Given the description of an element on the screen output the (x, y) to click on. 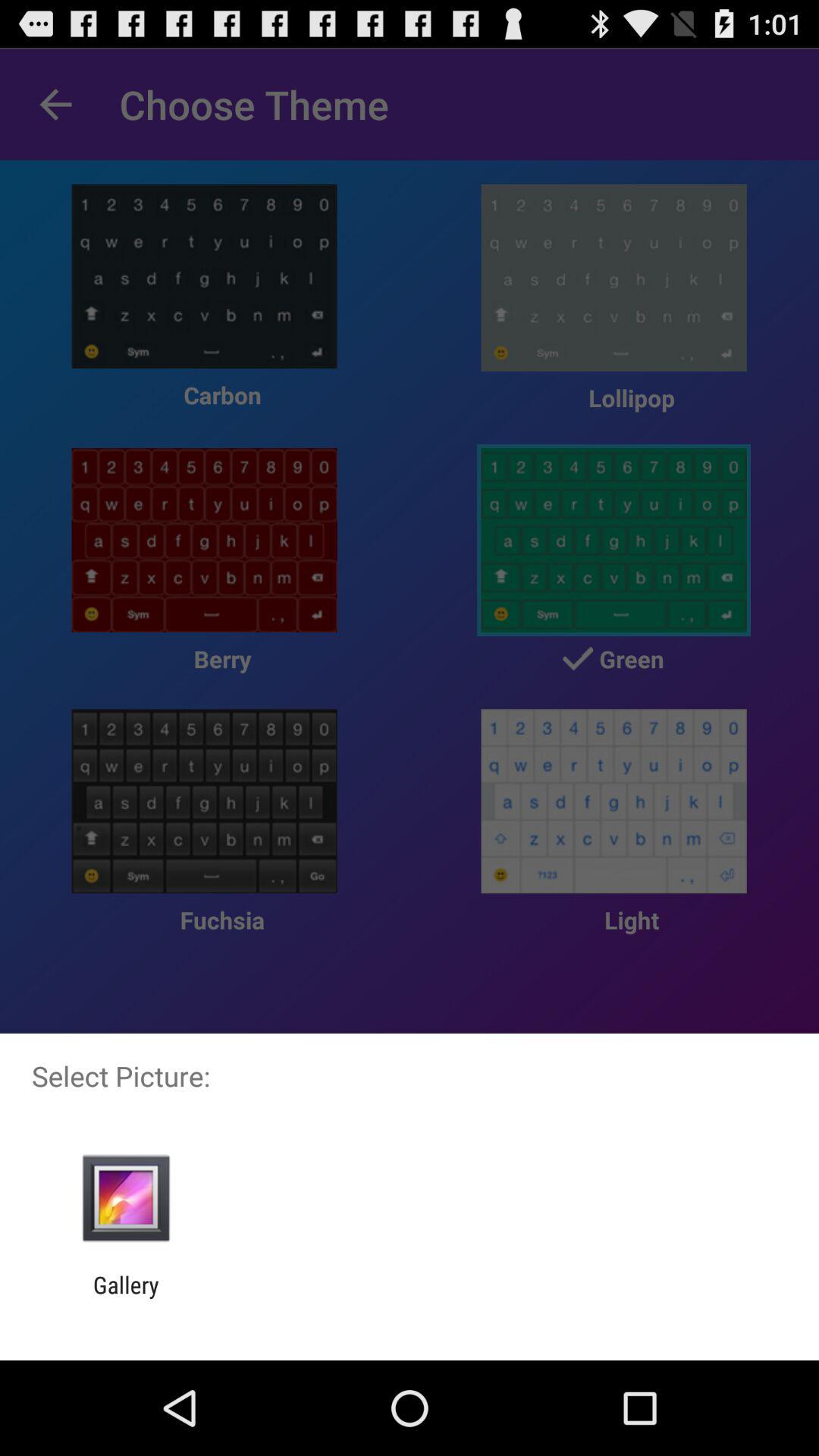
select the gallery icon (126, 1298)
